Given the description of an element on the screen output the (x, y) to click on. 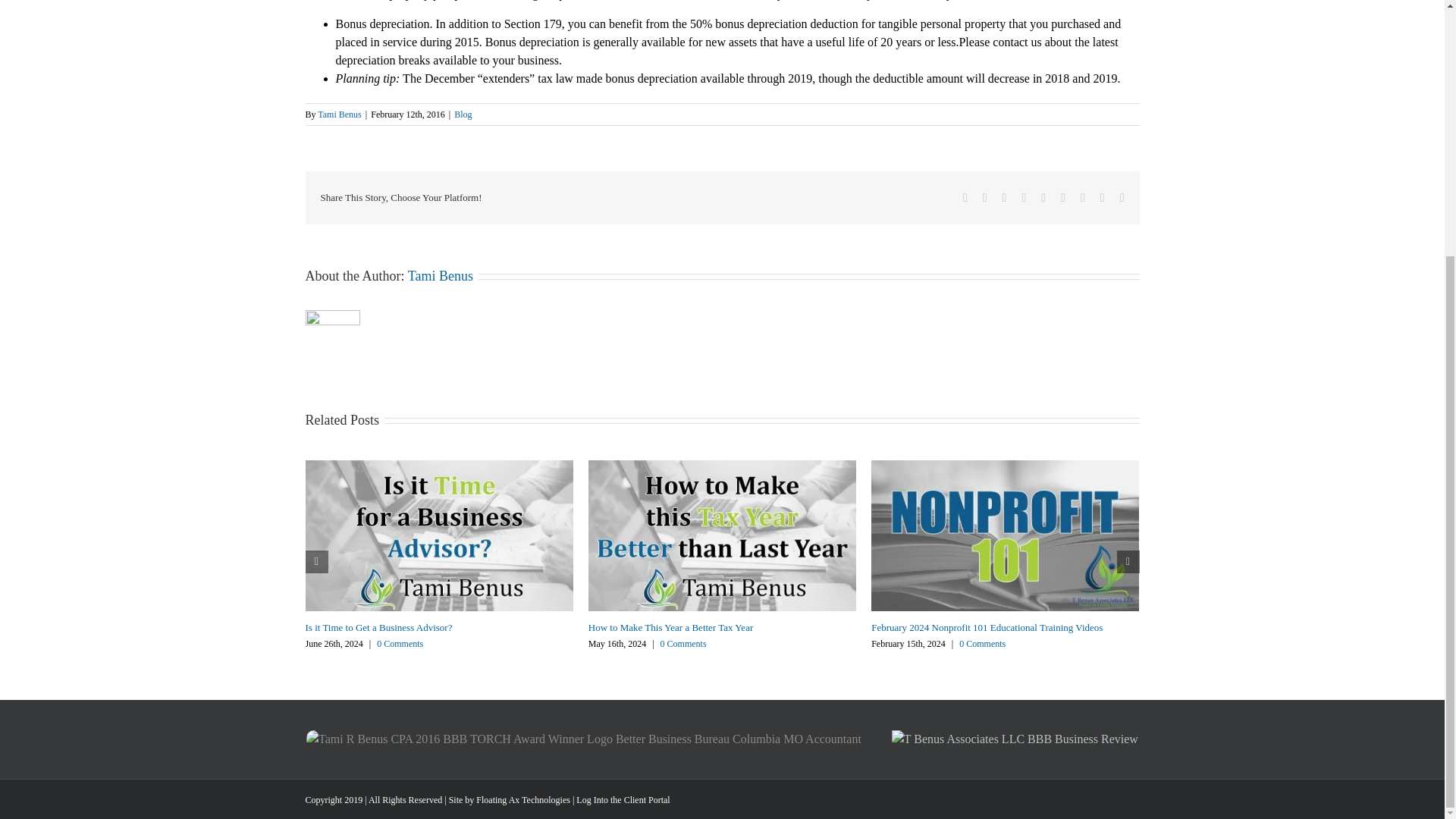
0 Comments (683, 643)
February 2024 Nonprofit 101 Educational Training Videos (986, 627)
Tami Benus (339, 113)
Blog (462, 113)
How to Make This Year a Better Tax Year (670, 627)
Posts by Tami Benus (339, 113)
Is it Time to Get a Business Advisor? (377, 627)
Is it Time to Get a Business Advisor? (377, 627)
February 2024 Nonprofit 101 Educational Training Videos (986, 627)
0 Comments (400, 643)
